Given the description of an element on the screen output the (x, y) to click on. 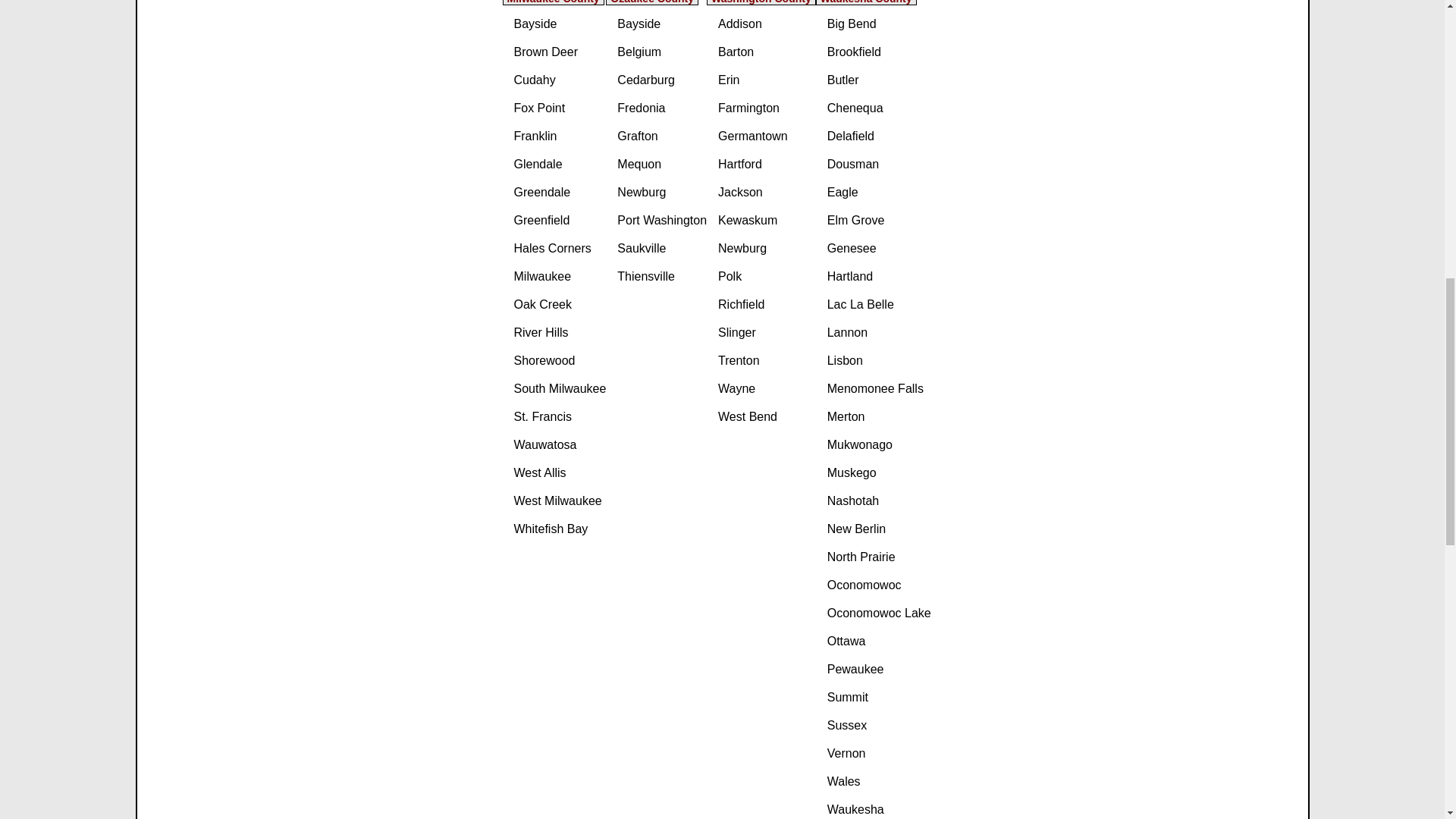
Greendale (560, 198)
Bayside (560, 31)
Shorewood (560, 367)
Greenfield (560, 226)
Belgium (661, 58)
Wauwatosa (560, 452)
Franklin (560, 143)
Hales Corners (560, 255)
Fox Point (560, 114)
South Milwaukee (560, 395)
